Given the description of an element on the screen output the (x, y) to click on. 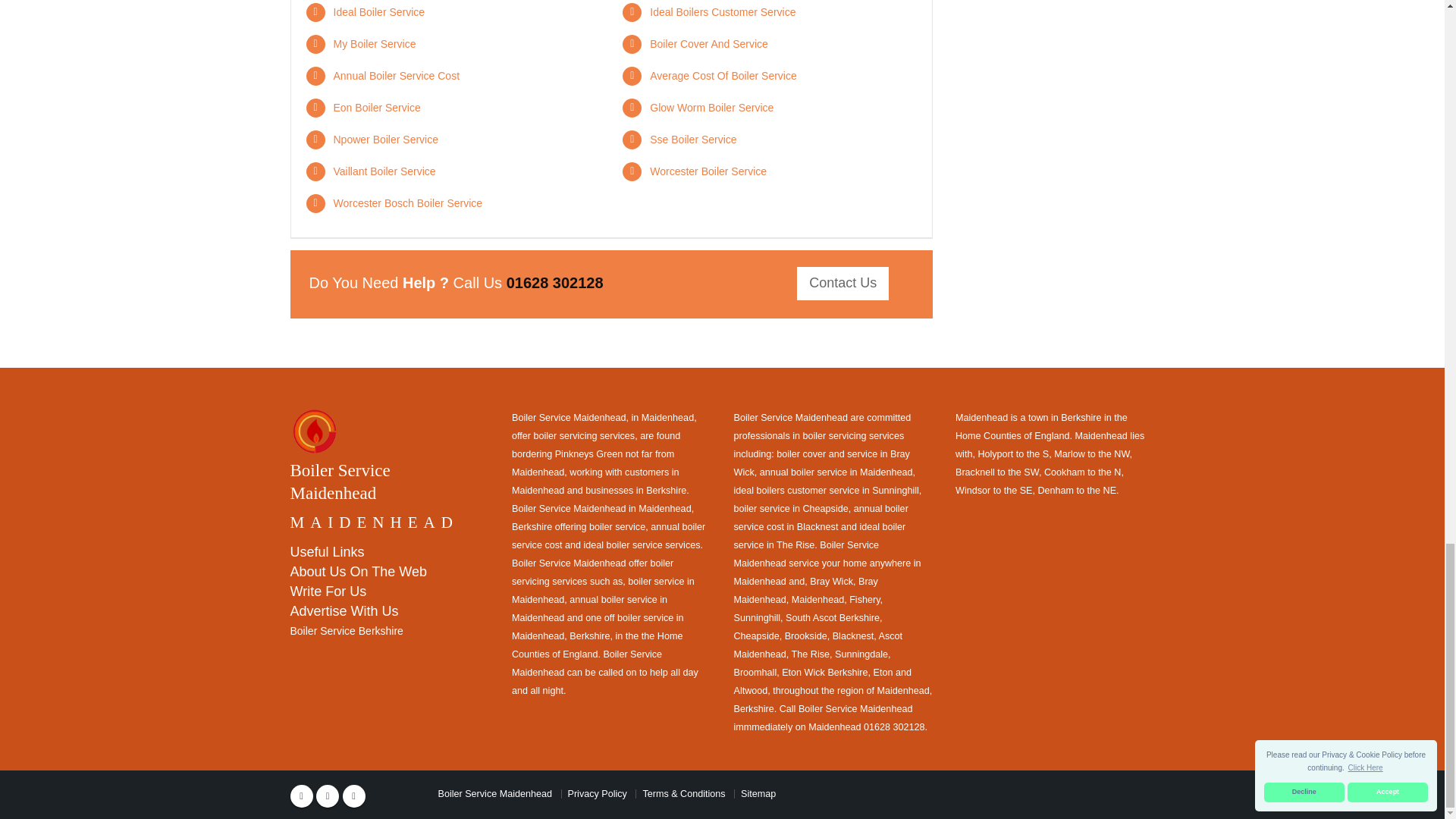
Twitter (327, 795)
Linkedin (353, 795)
Facebook (301, 795)
